Given the description of an element on the screen output the (x, y) to click on. 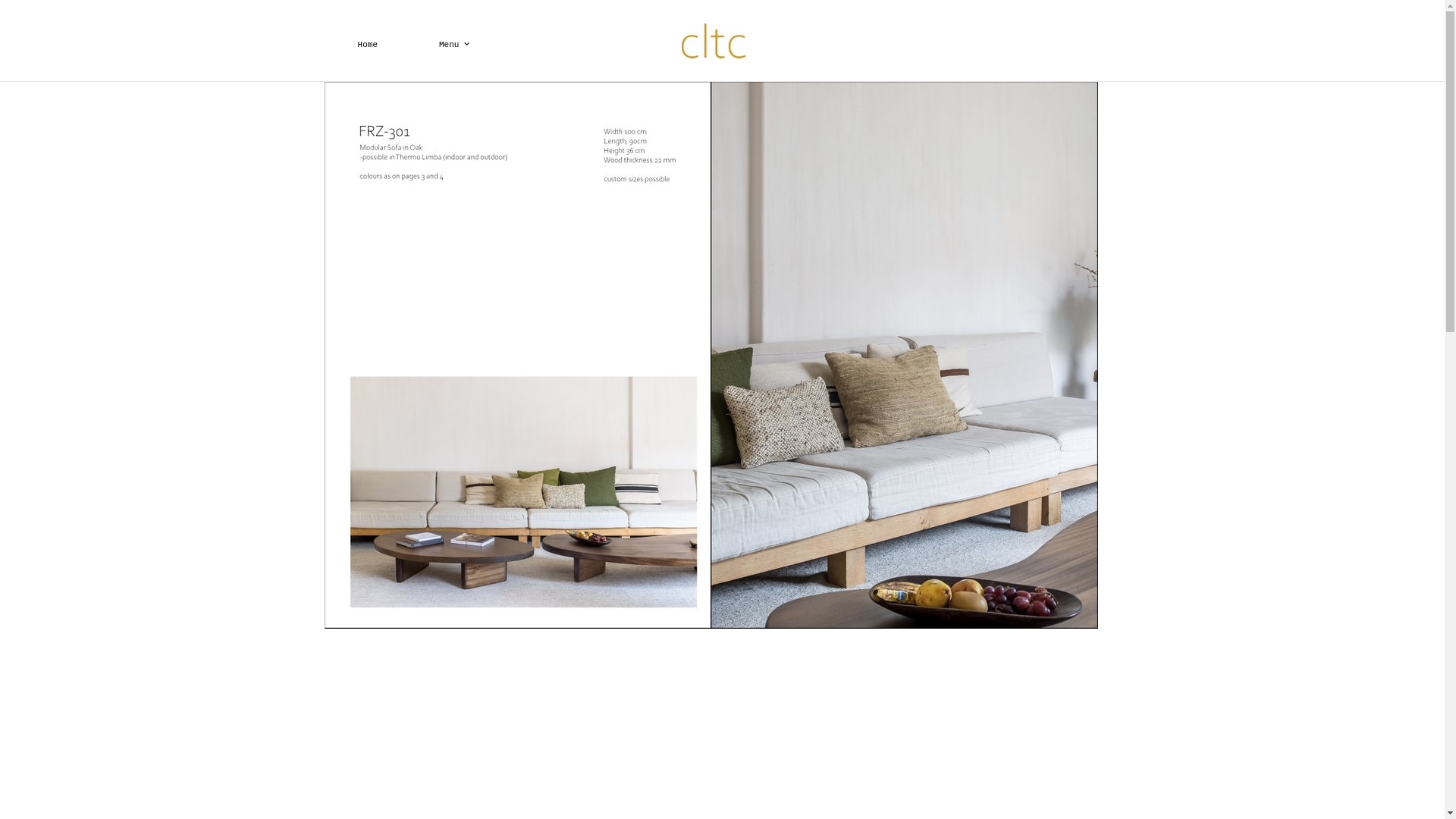
Home Element type: text (367, 44)
Menu Element type: text (455, 44)
